Given the description of an element on the screen output the (x, y) to click on. 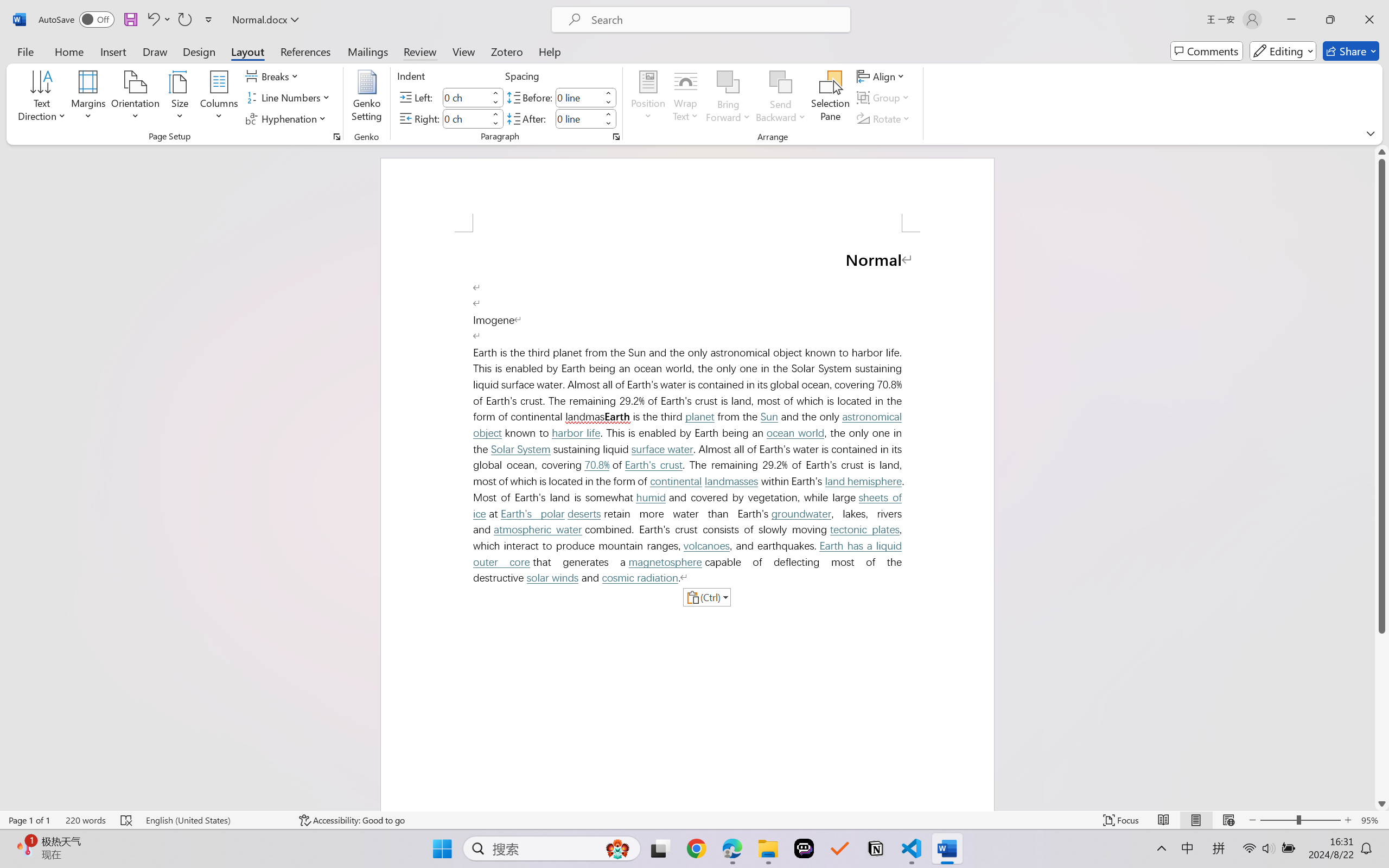
Indent Left (465, 96)
surface water (662, 448)
land hemisphere (863, 480)
planet (698, 416)
Indent Right (465, 118)
Orientation (135, 97)
cosmic radiation (639, 578)
Size (180, 97)
70.8% (596, 465)
Margins (88, 97)
Columns (219, 97)
